Given the description of an element on the screen output the (x, y) to click on. 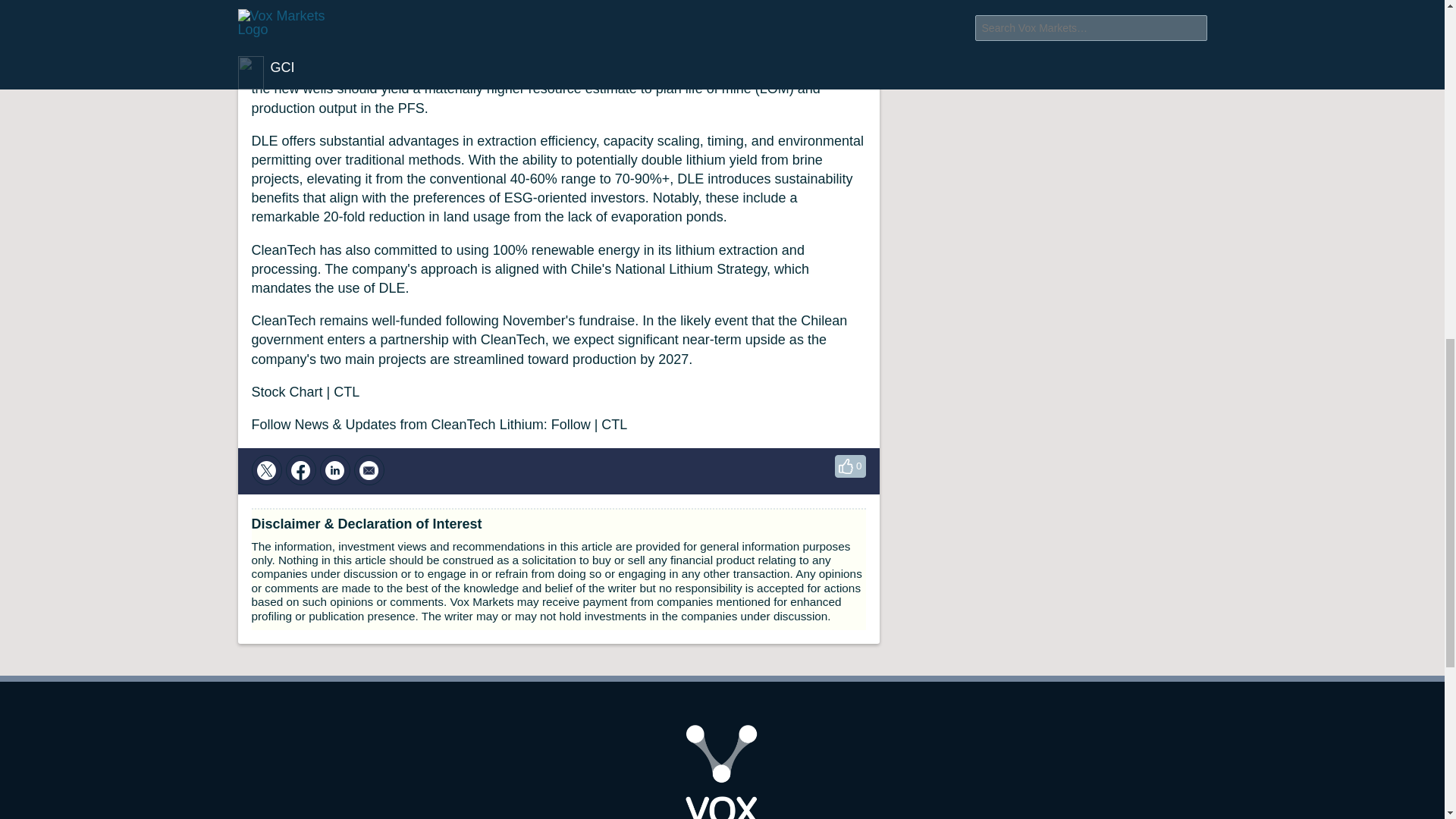
0 (849, 466)
Facebook (300, 470)
LinkedIn (335, 470)
Email (368, 470)
